Given the description of an element on the screen output the (x, y) to click on. 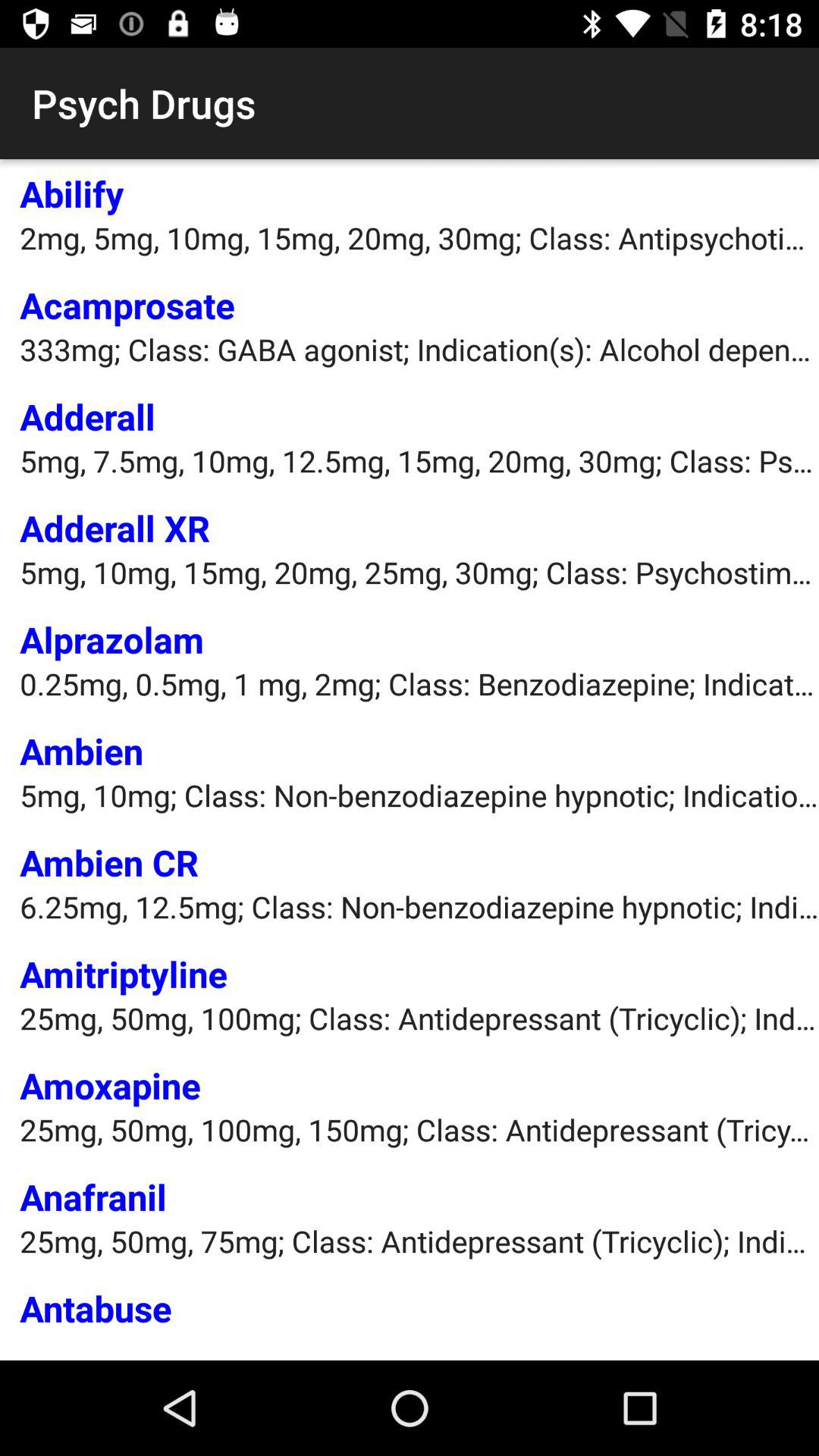
press icon above 0 25mg 0 icon (111, 639)
